Given the description of an element on the screen output the (x, y) to click on. 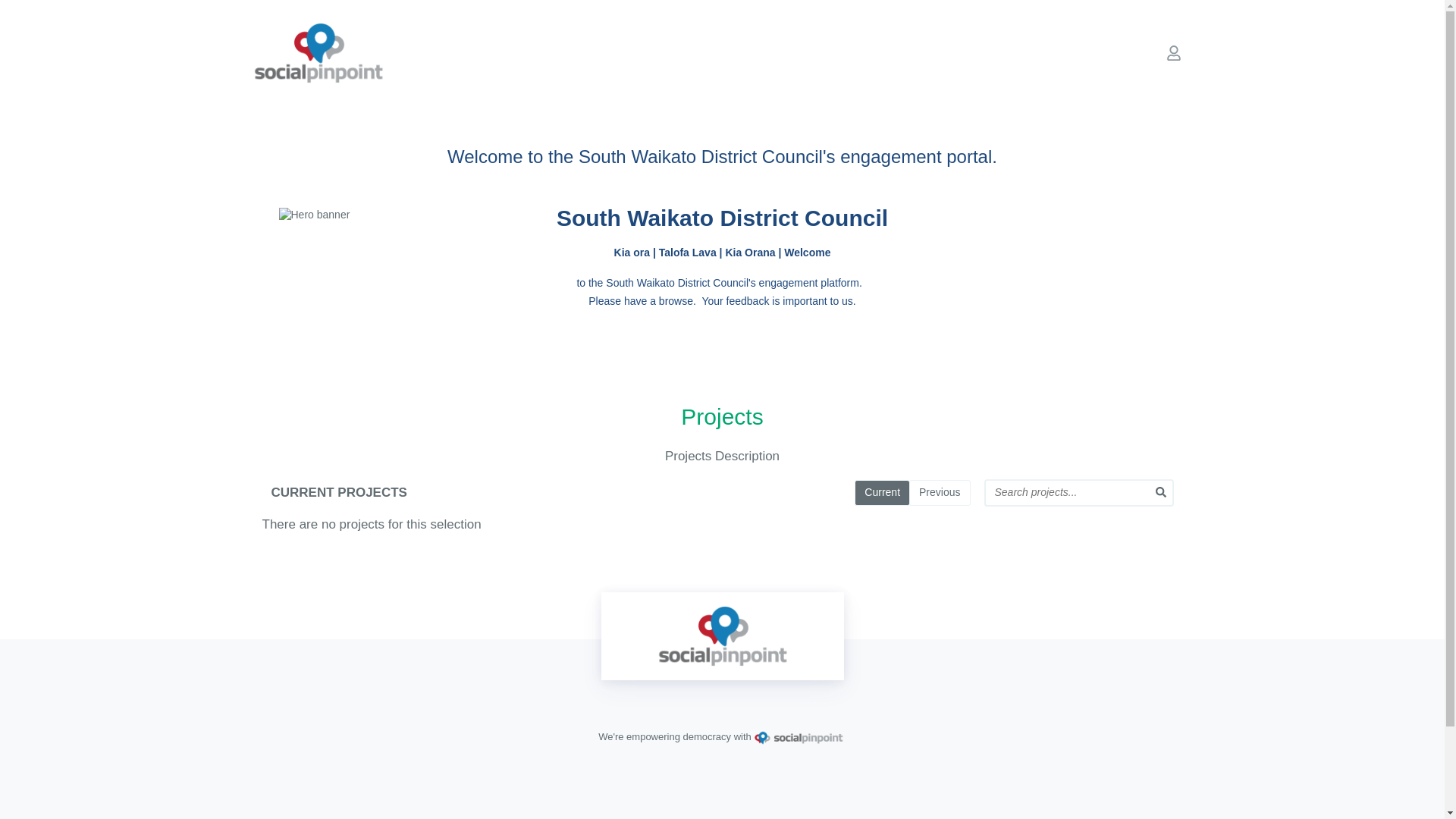
Previous Element type: text (939, 492)
Hero banner Element type: hover (722, 214)
Current Element type: text (881, 492)
